Given the description of an element on the screen output the (x, y) to click on. 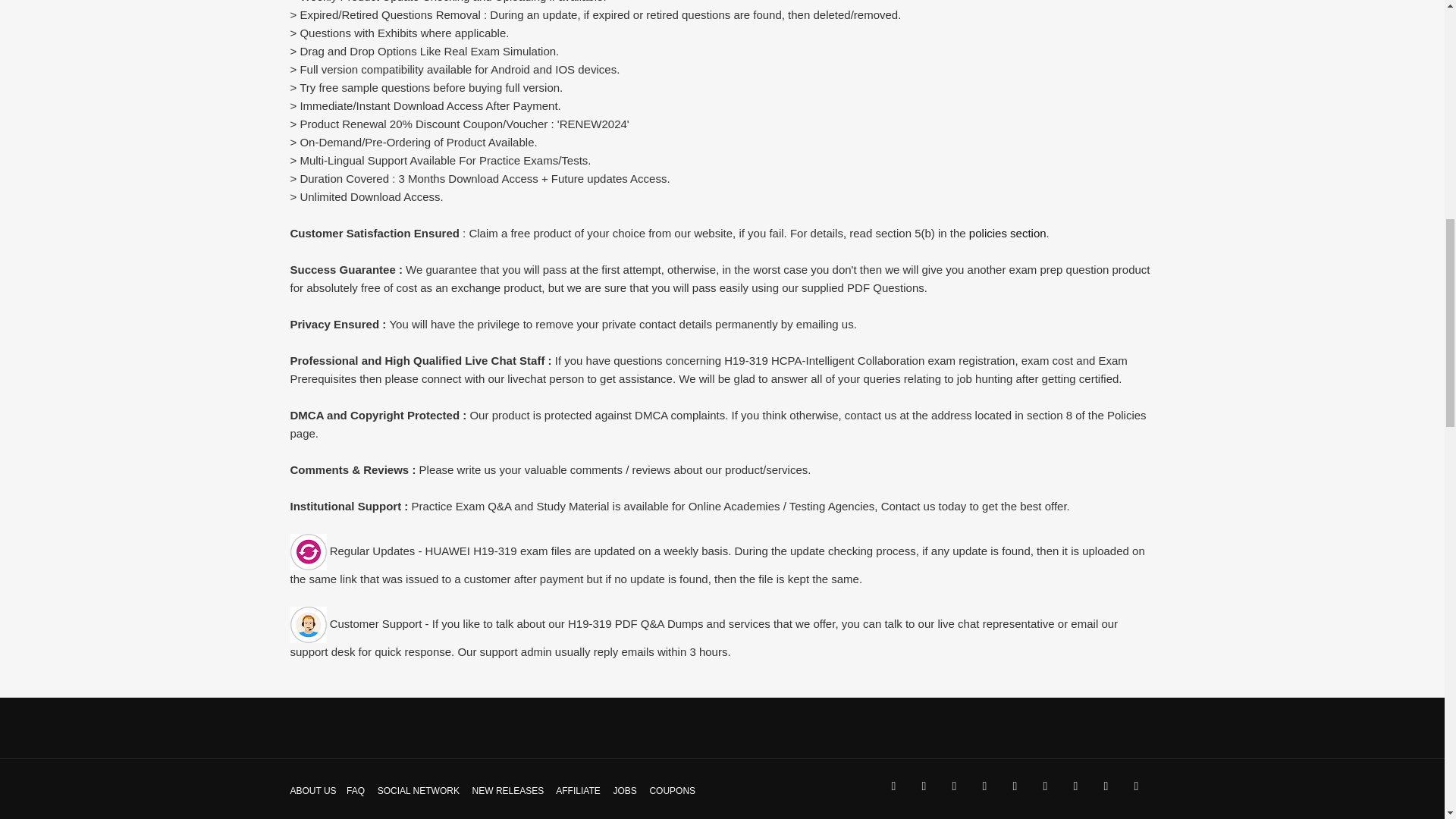
JOBS (624, 790)
NEW RELEASES (507, 790)
policies section (1007, 232)
SOCIAL NETWORK (418, 790)
COUPONS (672, 790)
ABOUT US (312, 790)
FAQ (355, 790)
AFFILIATE (577, 790)
